Given the description of an element on the screen output the (x, y) to click on. 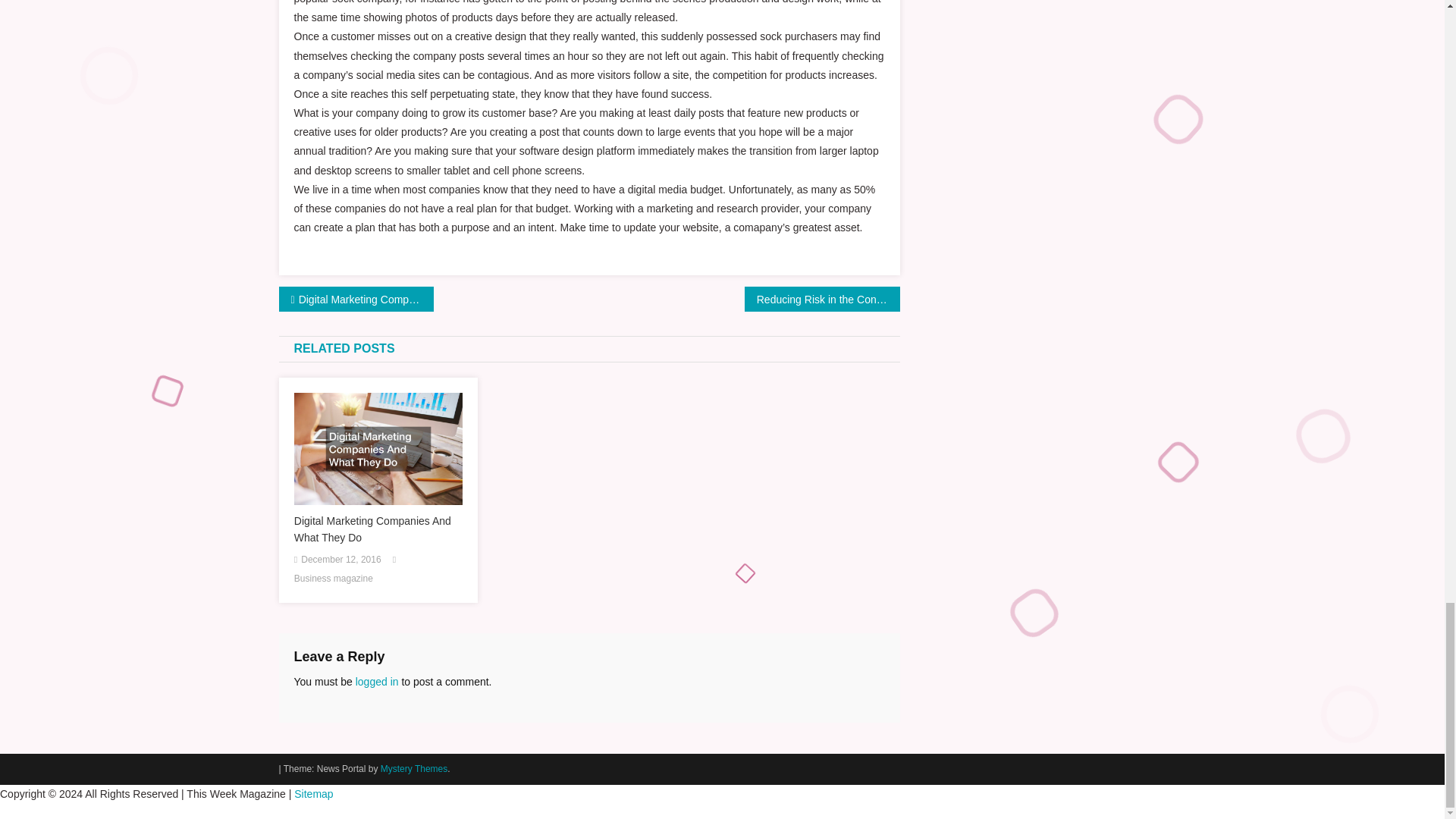
Mystery Themes (413, 768)
December 12, 2016 (340, 560)
Sitemap (313, 793)
Reducing Risk in the Construction Industry (821, 299)
Digital Marketing Companies and What They Do (356, 299)
Digital Marketing Companies And What They Do (378, 529)
logged in (376, 681)
Business magazine (333, 579)
